Given the description of an element on the screen output the (x, y) to click on. 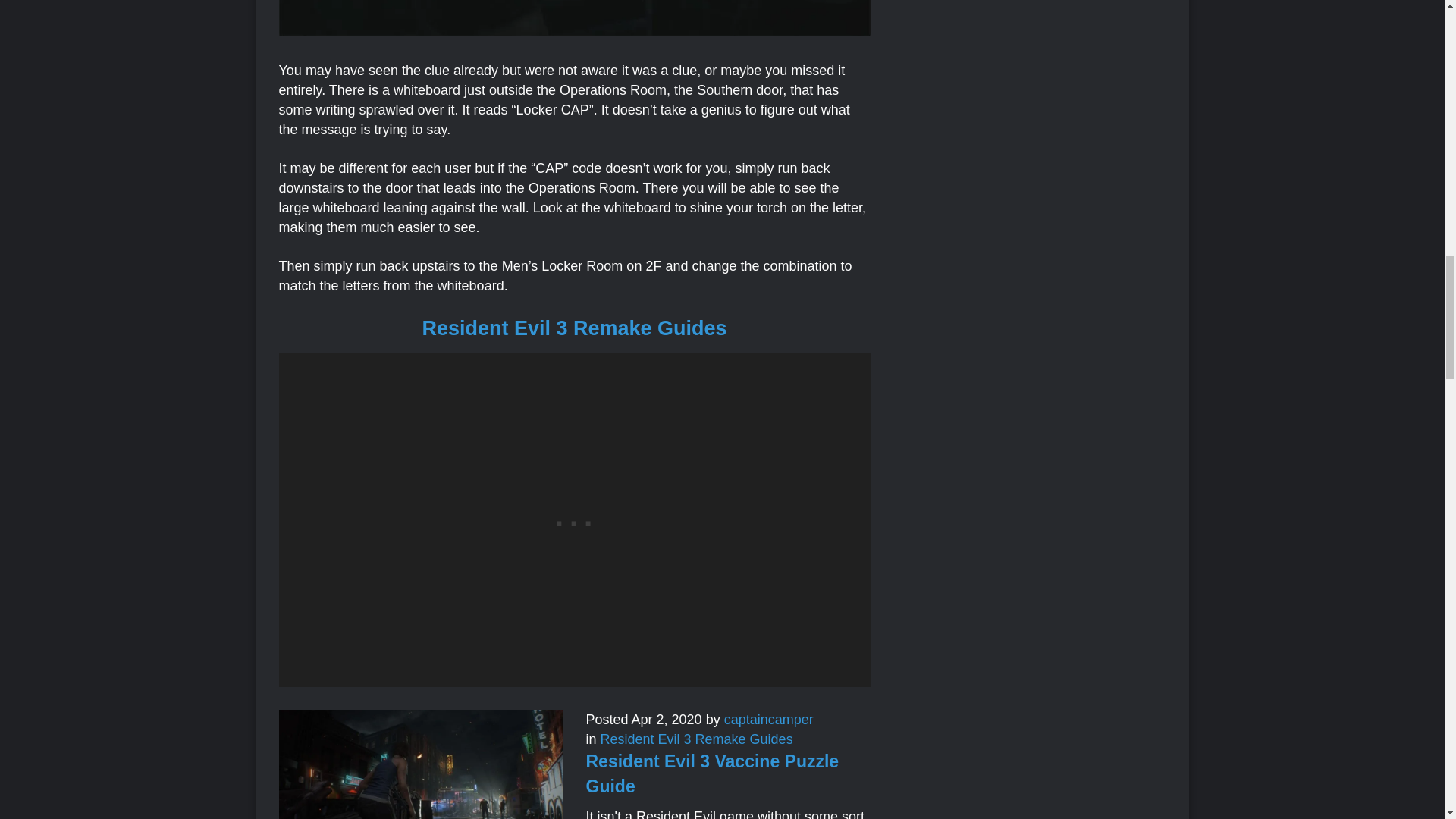
Resident Evil 3 Remake Guides (574, 327)
captaincamper (768, 719)
